Given the description of an element on the screen output the (x, y) to click on. 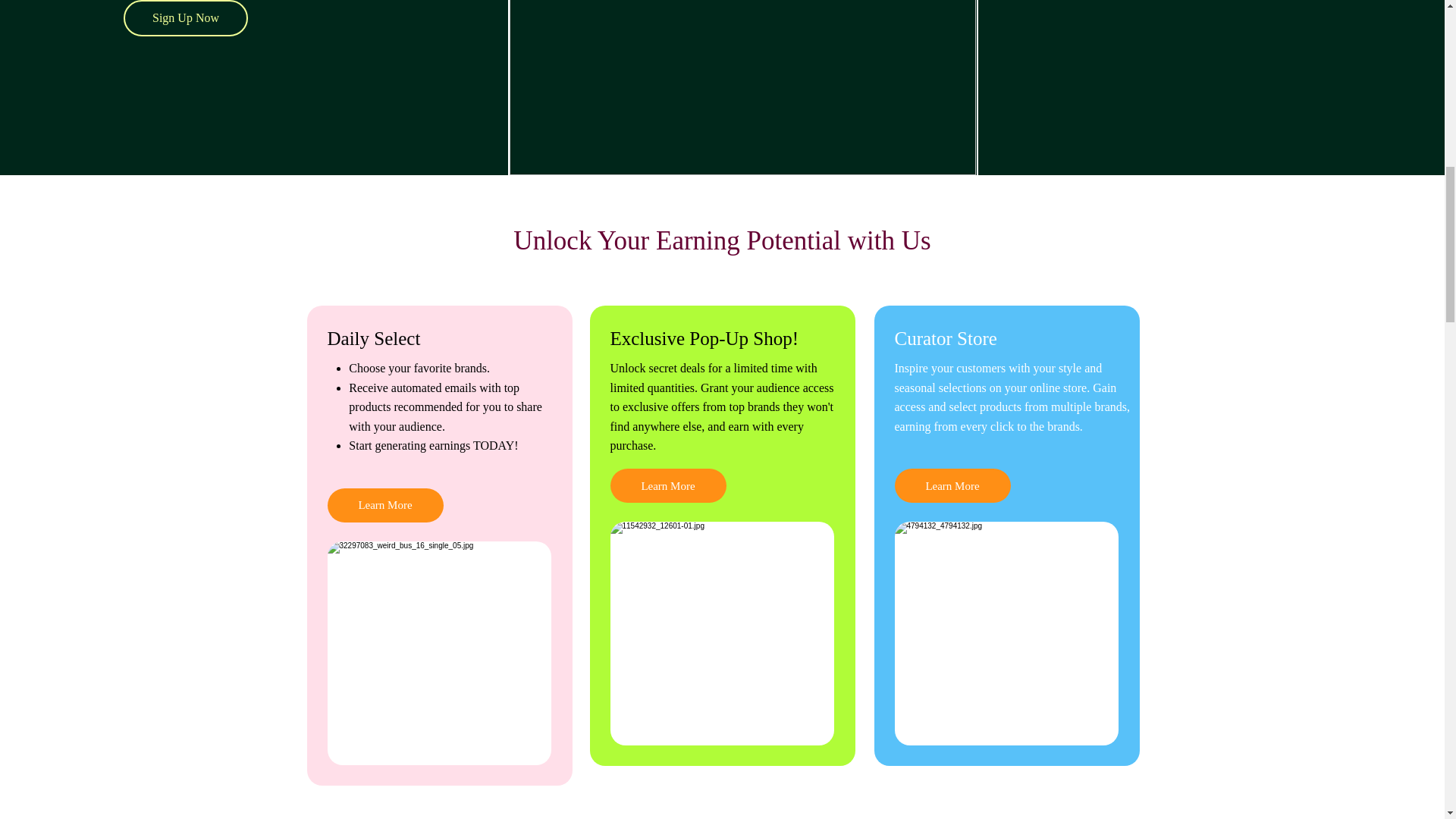
Learn More (952, 485)
Learn More (667, 485)
Sign Up Now (185, 18)
Learn More (385, 505)
